Given the description of an element on the screen output the (x, y) to click on. 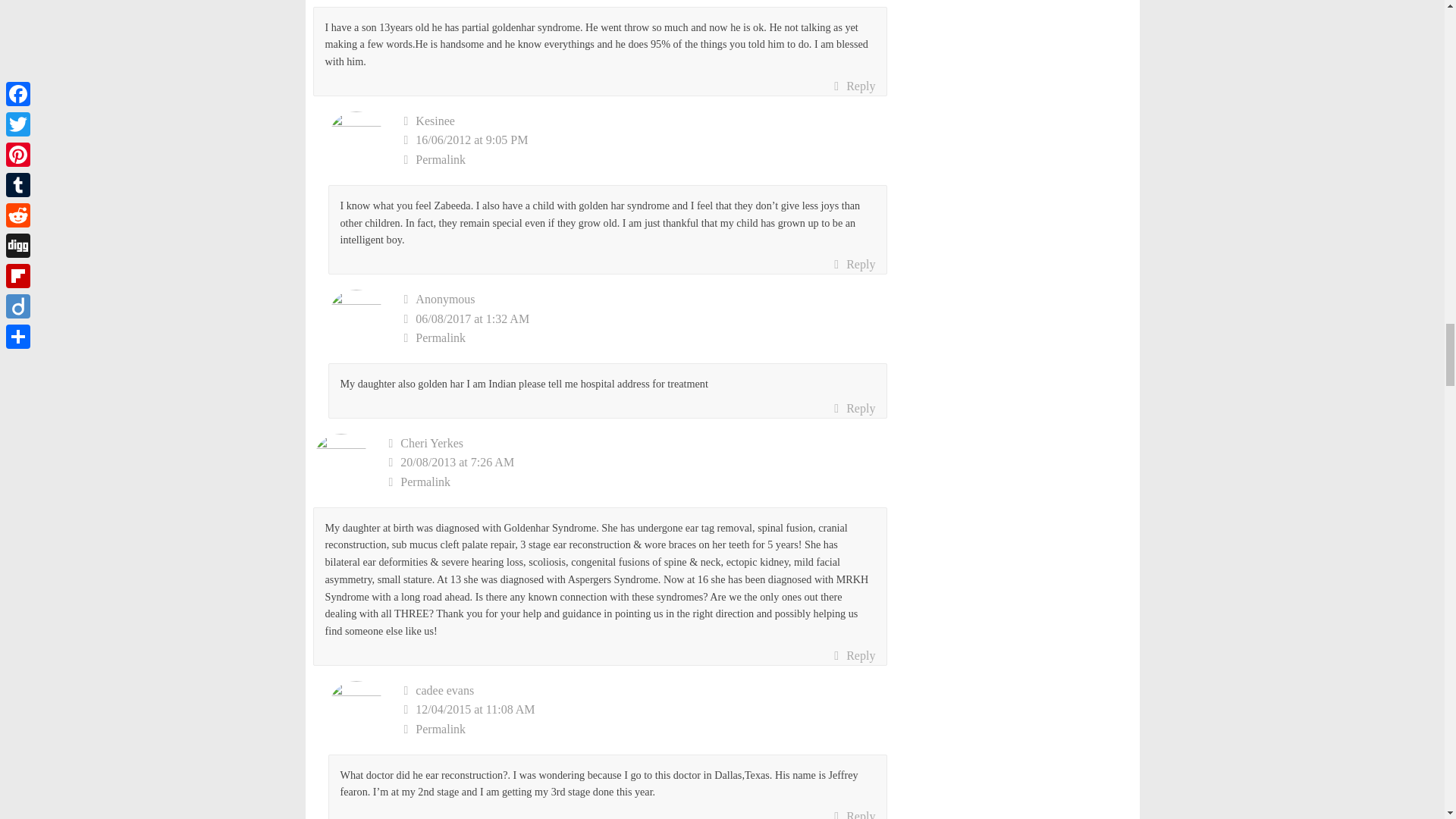
Permalink (644, 338)
Reply (854, 264)
Reply (854, 86)
Permalink (644, 159)
Reply (854, 408)
